Given the description of an element on the screen output the (x, y) to click on. 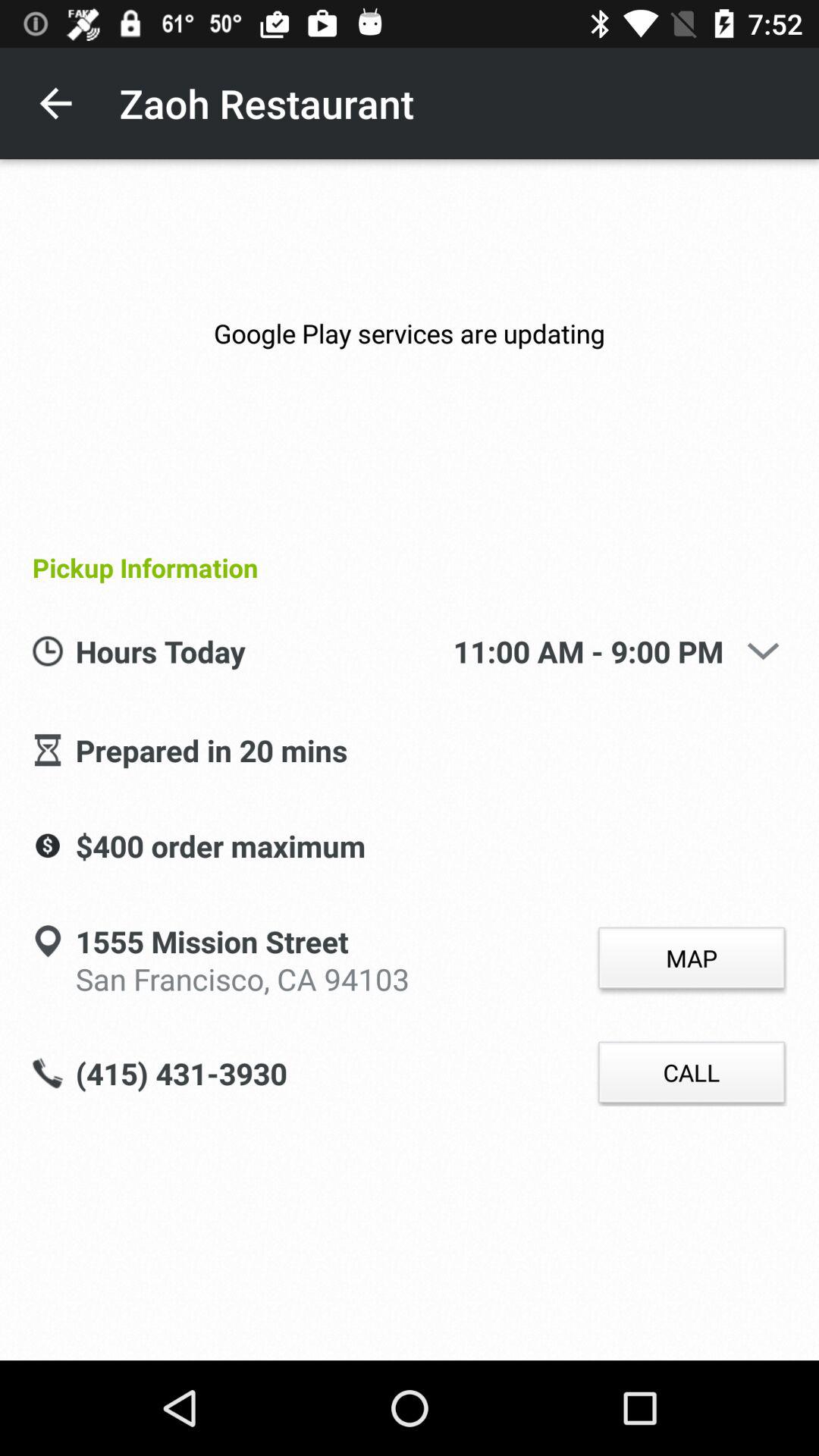
click the san francisco ca item (242, 976)
